Given the description of an element on the screen output the (x, y) to click on. 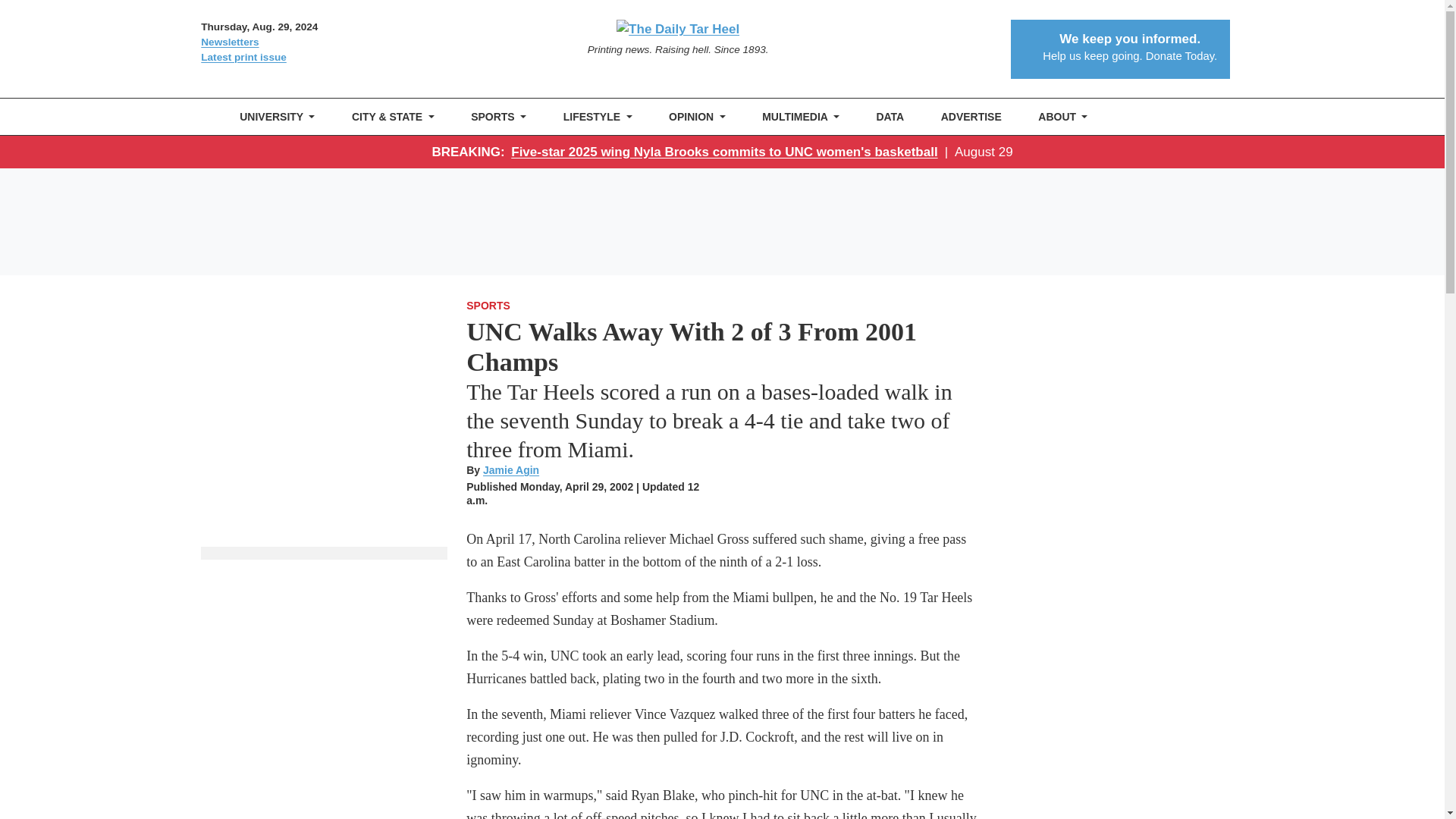
Data (890, 116)
UNIVERSITY (276, 116)
SPORTS (498, 116)
Newsletters (323, 42)
We keep you informed. (1129, 38)
Latest print issue (323, 57)
OPINION (697, 116)
Advertise (970, 116)
LIFESTYLE (597, 116)
